Given the description of an element on the screen output the (x, y) to click on. 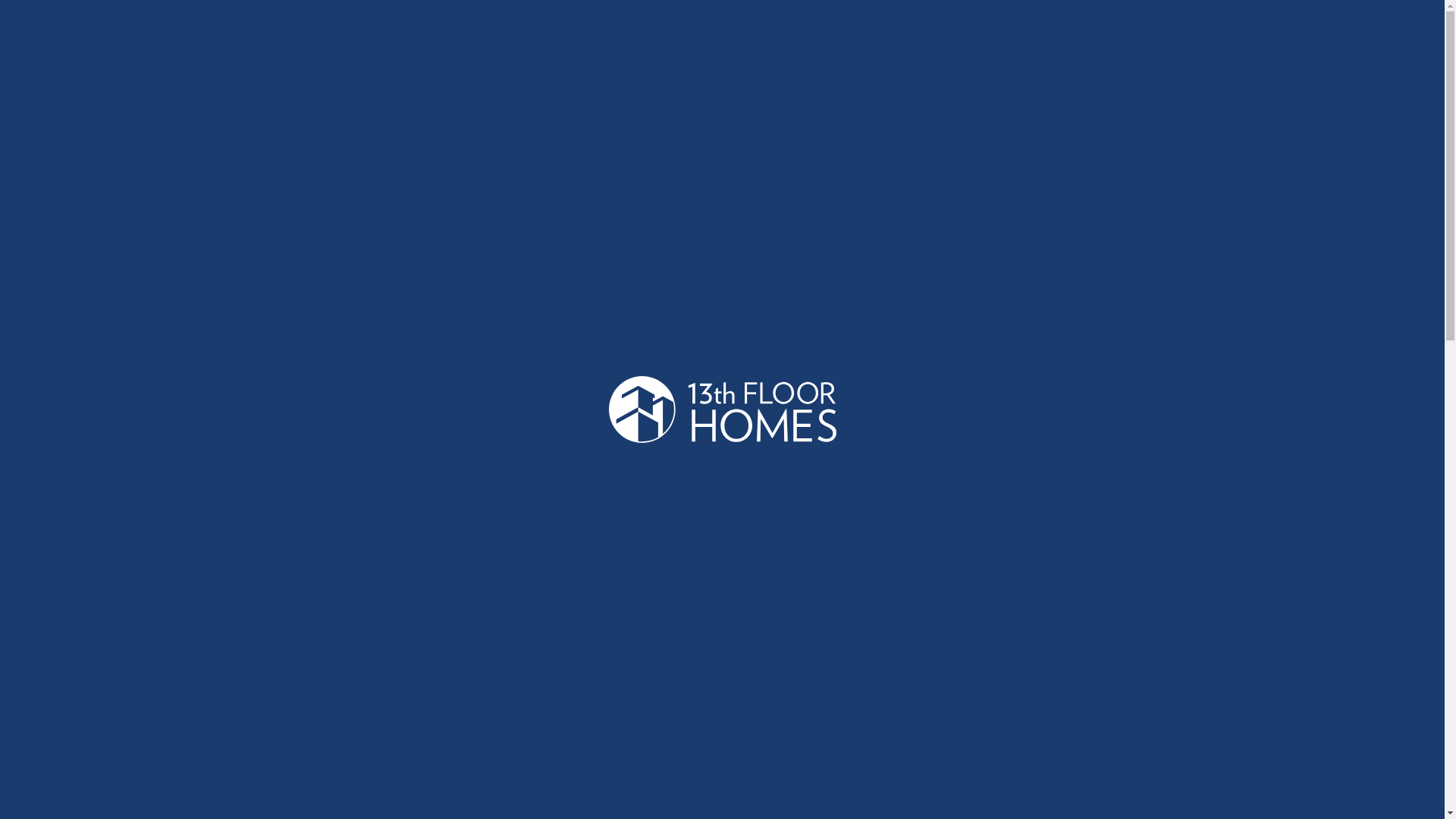
ABOUT Element type: text (784, 45)
TEAM Element type: text (1063, 45)
SPECIALTIES Element type: text (868, 45)
NEWS Element type: text (1122, 45)
CONTACT Element type: text (1193, 45)
COMMUNITIES Element type: text (976, 45)
